Given the description of an element on the screen output the (x, y) to click on. 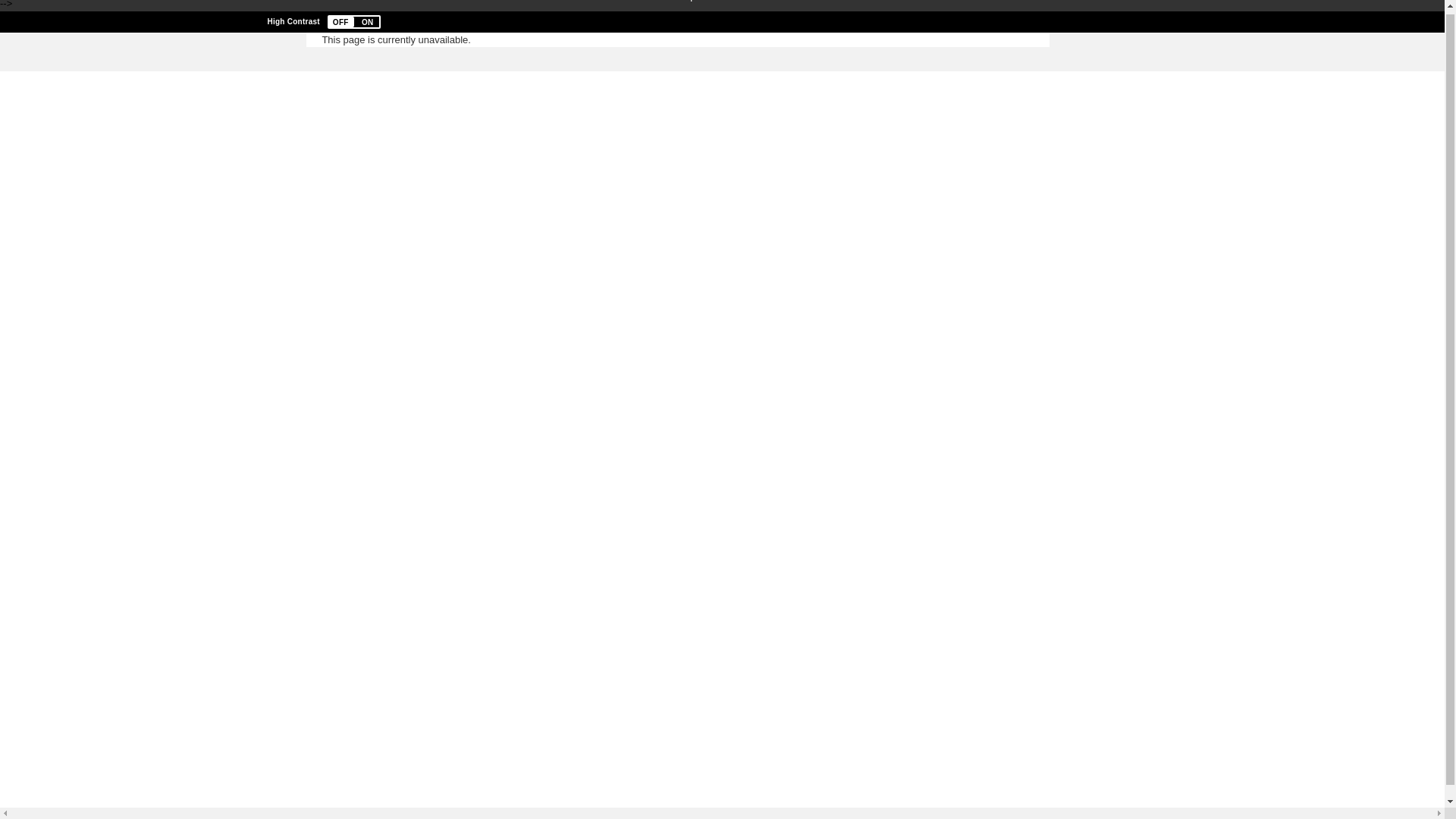
Skip to Main Content (722, 2)
